Given the description of an element on the screen output the (x, y) to click on. 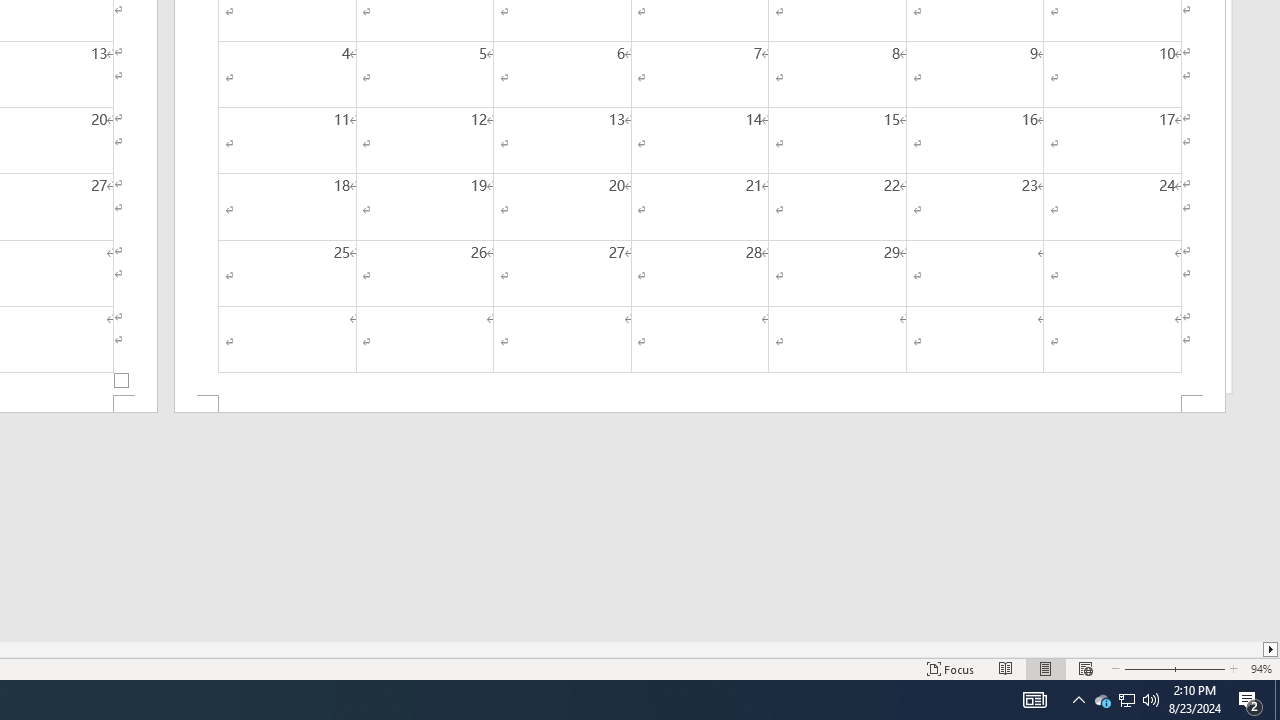
Column right (1271, 649)
Footer -Section 2- (700, 404)
